Given the description of an element on the screen output the (x, y) to click on. 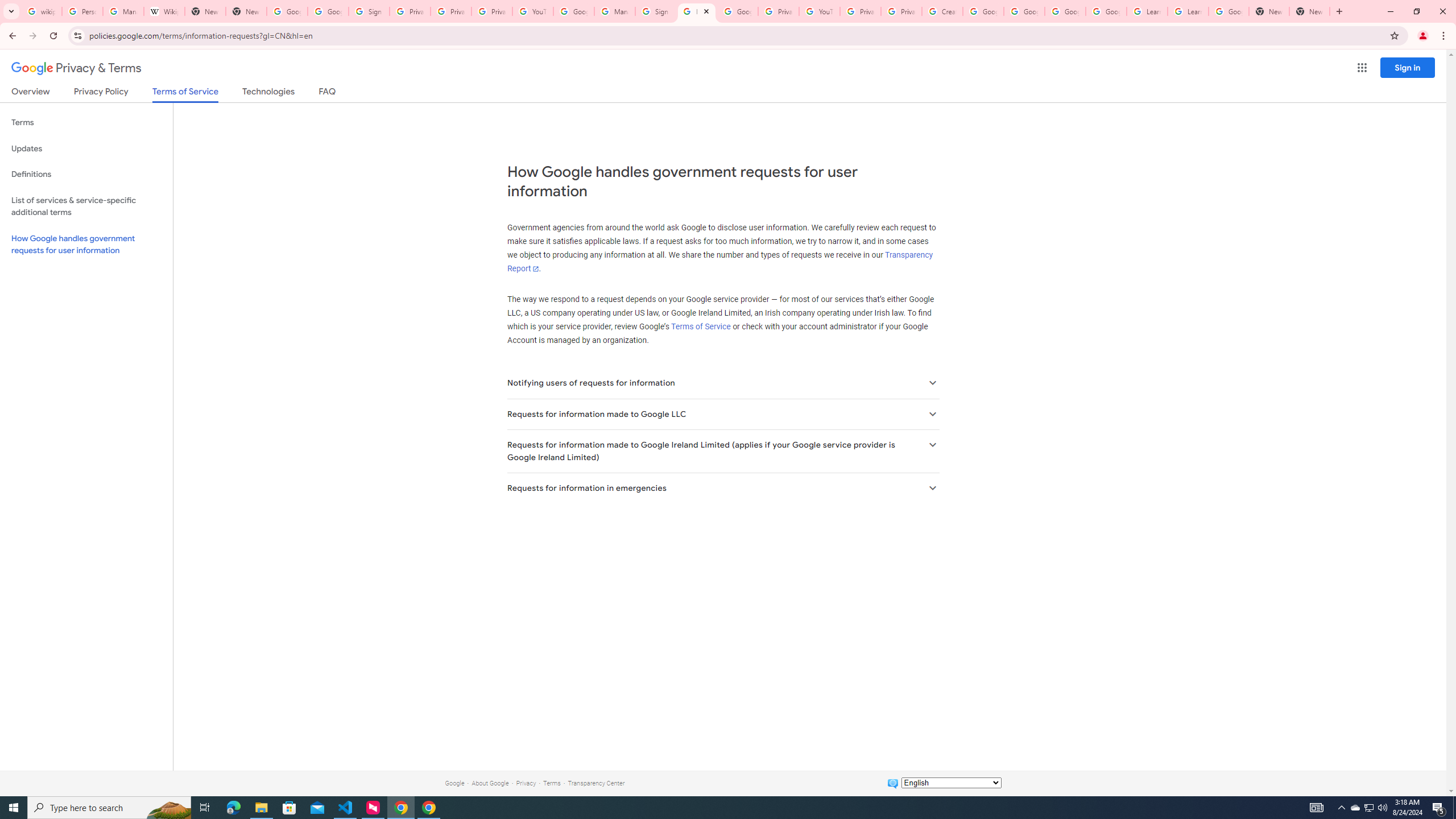
Requests for information in emergencies (722, 488)
Create your Google Account (942, 11)
